Given the description of an element on the screen output the (x, y) to click on. 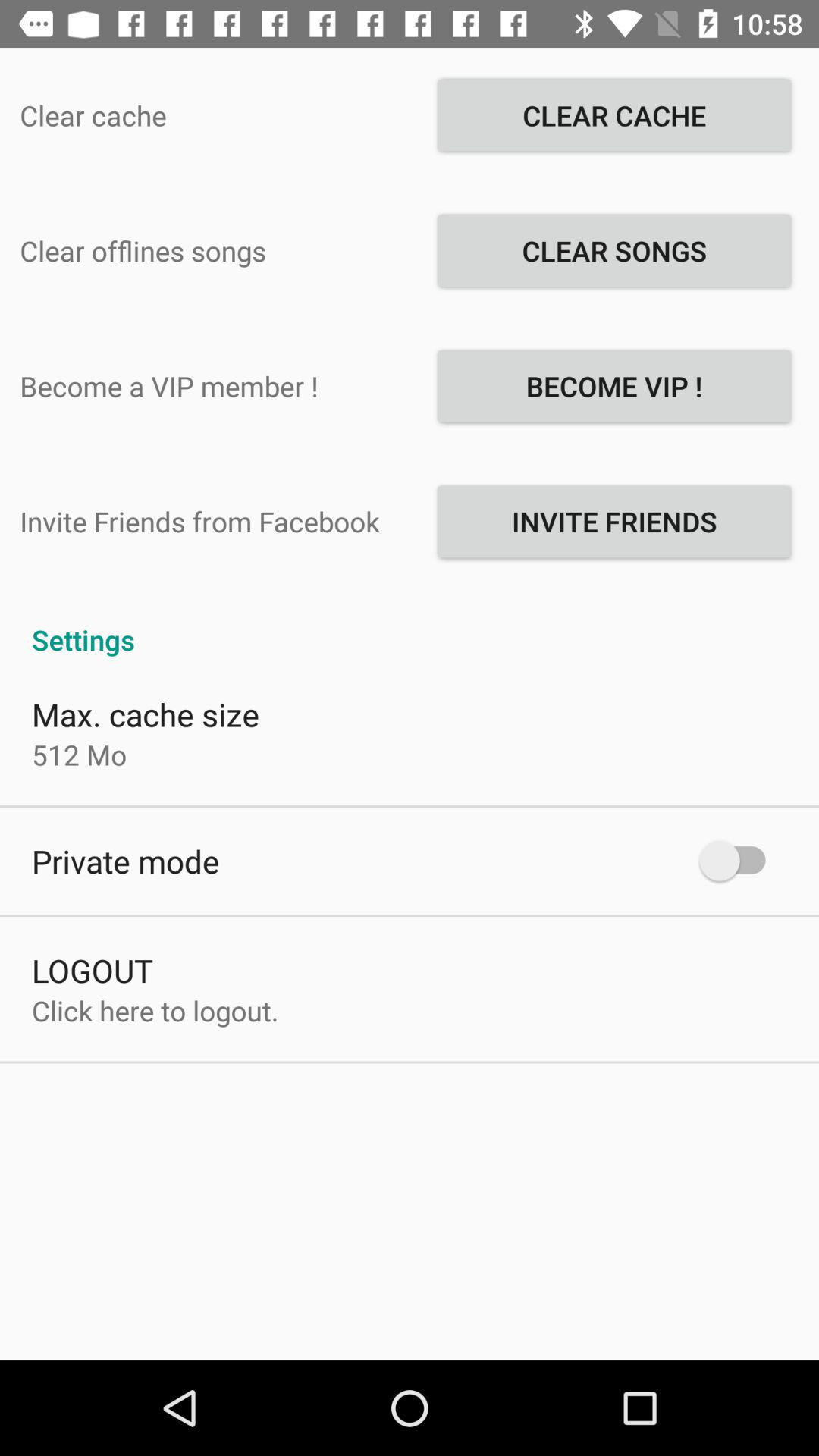
click the button below the invite friends icon (409, 623)
